Given the description of an element on the screen output the (x, y) to click on. 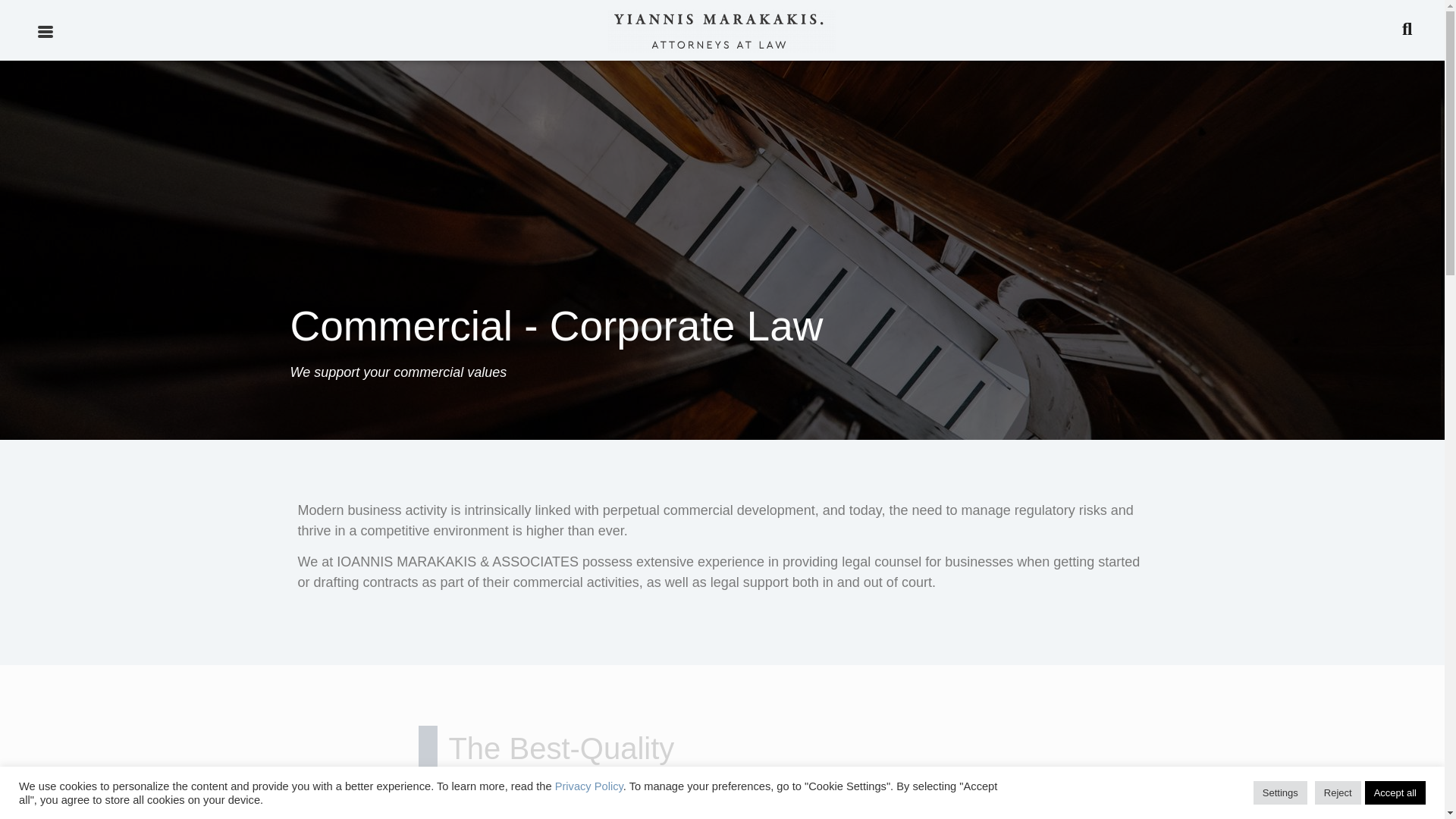
Accept all (1395, 792)
Reject (1337, 792)
Privacy Policy (588, 785)
logo1 (721, 30)
Settings (1280, 792)
